Given the description of an element on the screen output the (x, y) to click on. 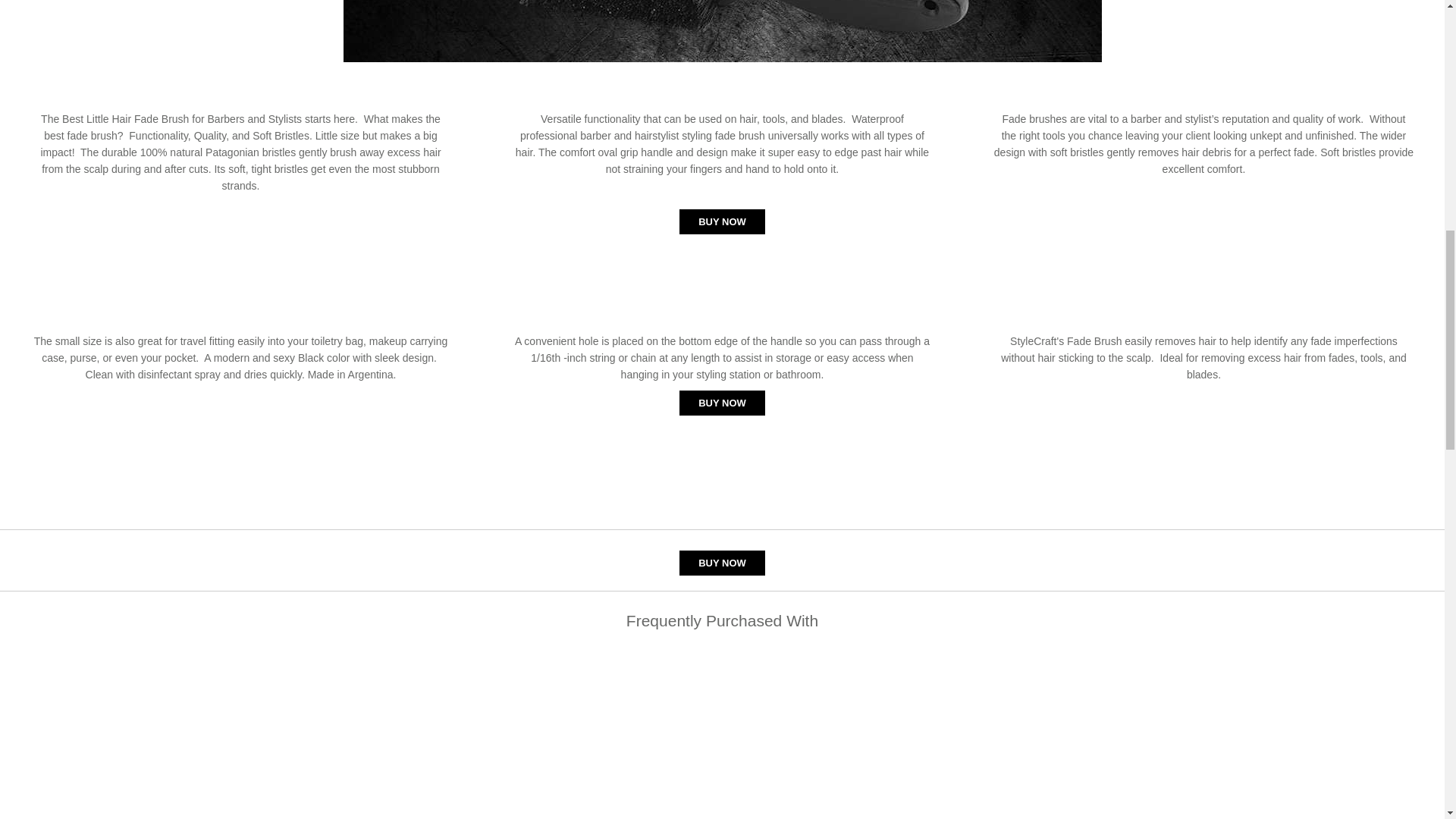
Add to Cart (722, 221)
